Given the description of an element on the screen output the (x, y) to click on. 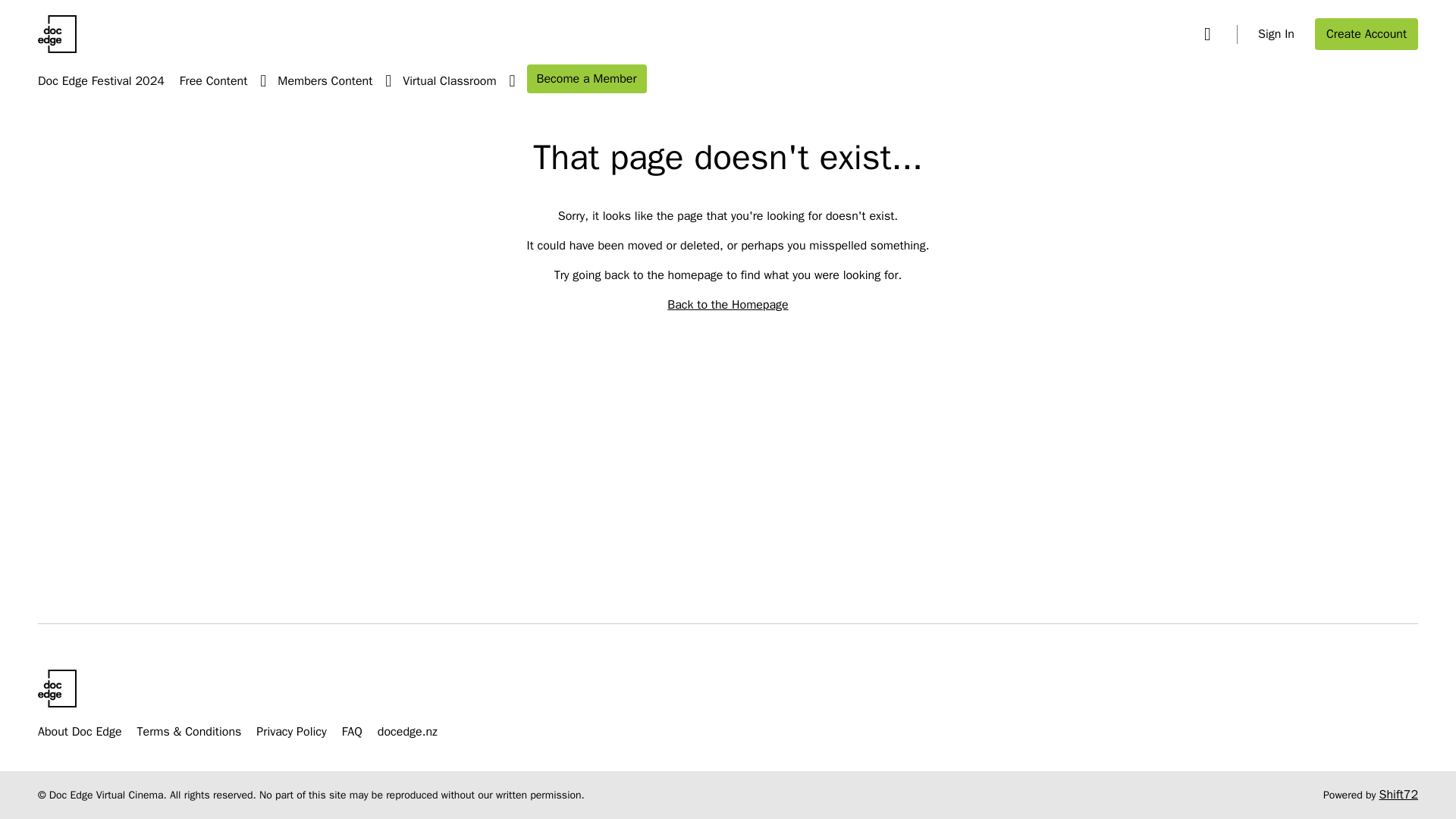
Privacy Policy (291, 731)
Become a Member (586, 78)
About Doc Edge (79, 731)
Free Content (228, 81)
Virtual Classroom (464, 81)
Members Content (340, 81)
Sign In (1276, 33)
Create Account (1366, 33)
Doc Edge Festival 2024 (100, 81)
Back to the Homepage (726, 304)
